Given the description of an element on the screen output the (x, y) to click on. 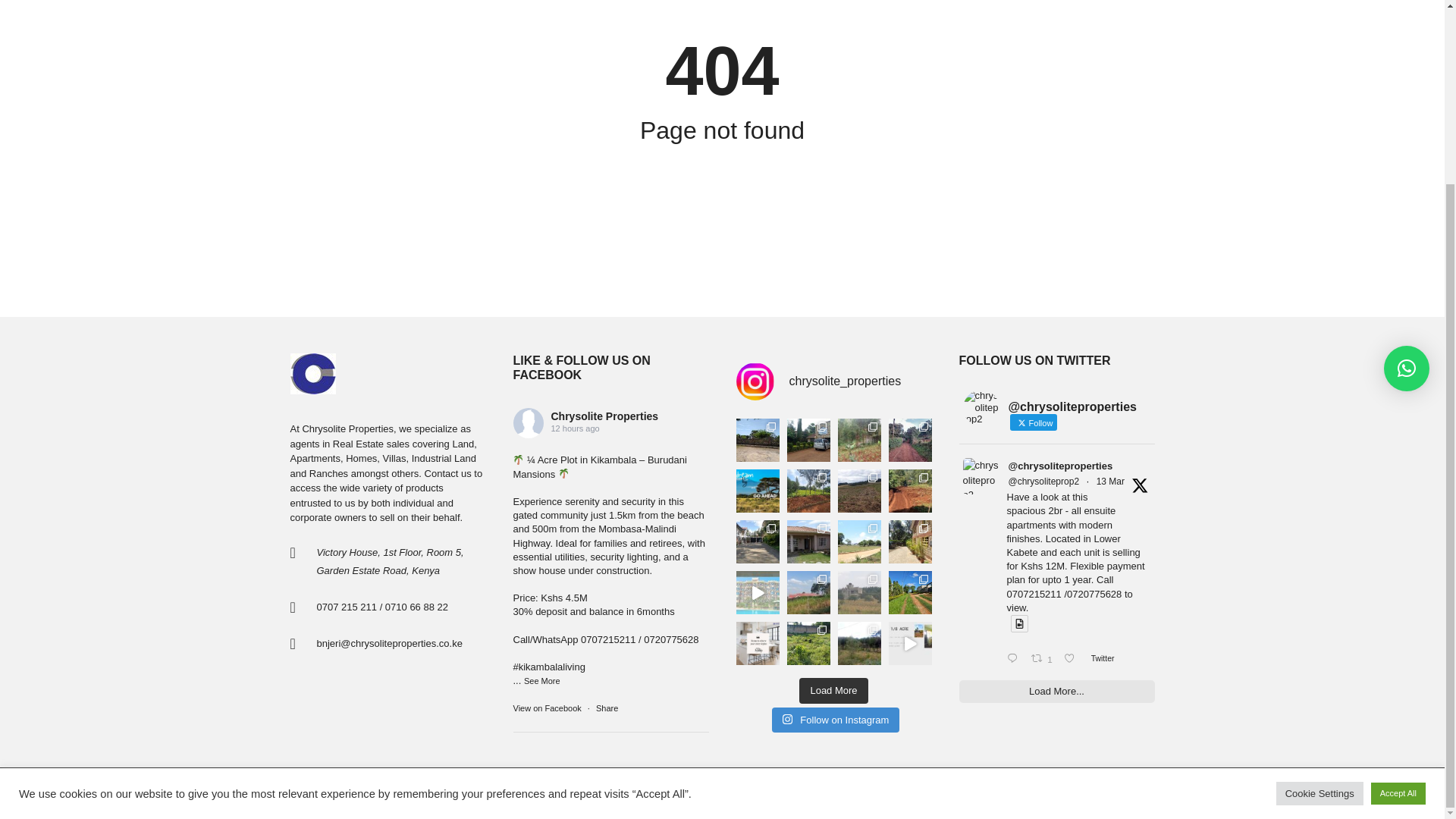
View on Facebook (547, 707)
Share (606, 707)
See More (542, 680)
View on Facebook (547, 707)
Chrysolite Properties (604, 416)
Share (606, 707)
